Given the description of an element on the screen output the (x, y) to click on. 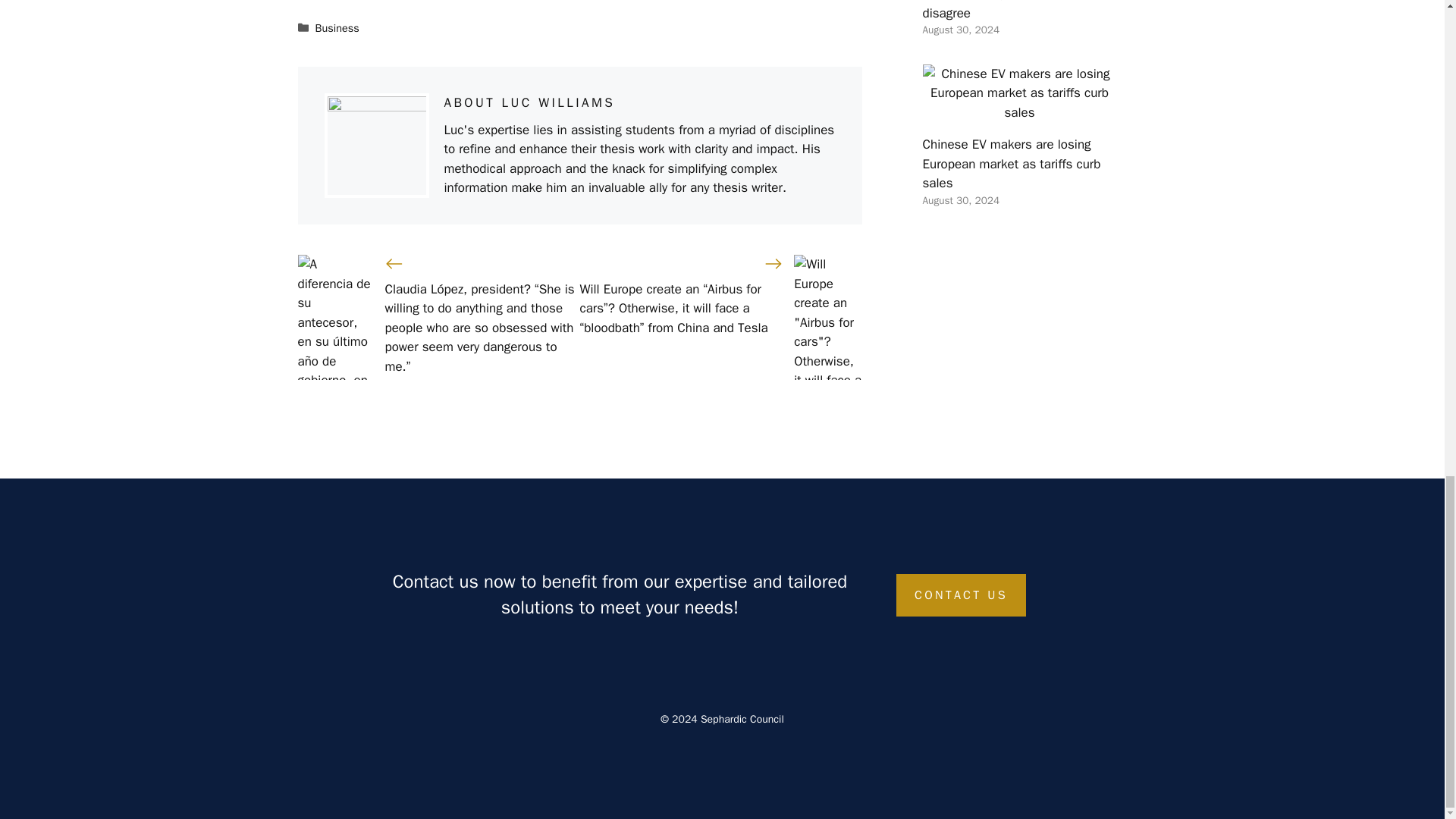
August 30, 2024 (959, 200)
Business (337, 28)
CONTACT US (961, 595)
5:40 am (959, 200)
August 30, 2024 (959, 29)
11:39 am (959, 29)
